Given the description of an element on the screen output the (x, y) to click on. 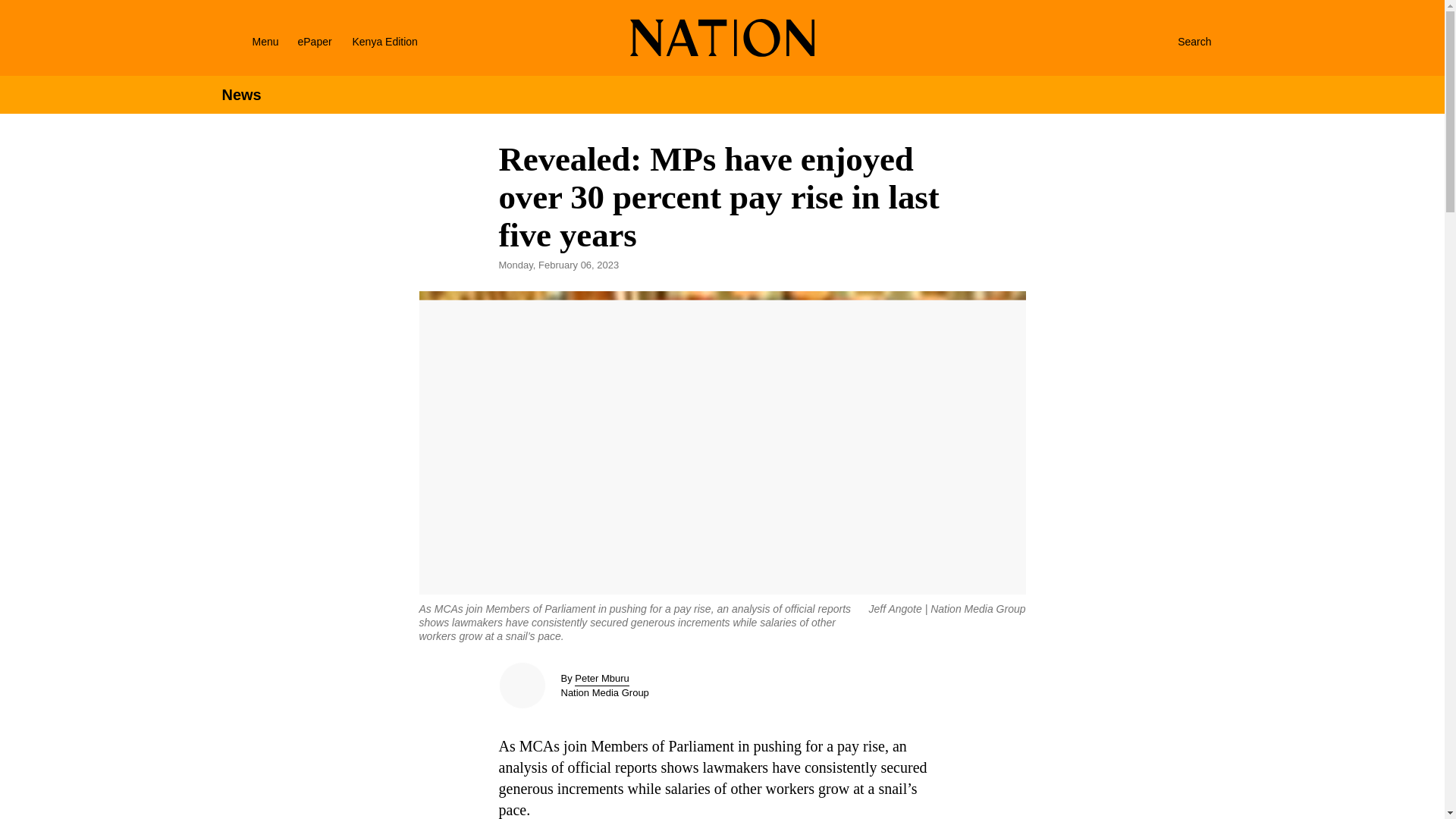
Kenya Edition (398, 41)
Search (1178, 41)
News (240, 94)
Menu (246, 41)
ePaper (314, 41)
